Given the description of an element on the screen output the (x, y) to click on. 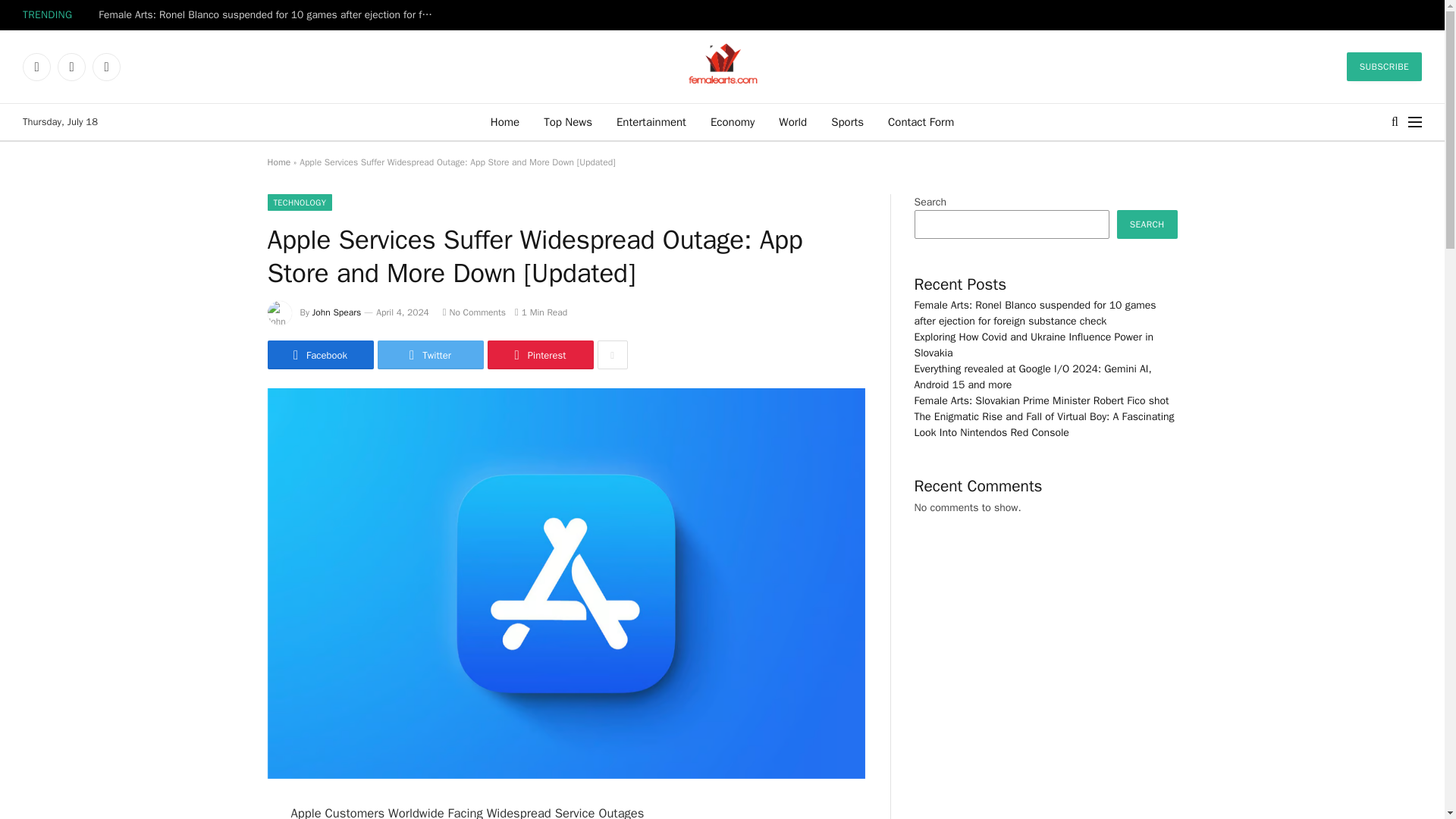
Sports (847, 122)
Entertainment (651, 122)
Contact Form (921, 122)
Economy (732, 122)
Home (505, 122)
Posts by John Spears (337, 312)
John Spears (337, 312)
Show More Social Sharing (611, 354)
Share on Facebook (319, 354)
No Comments (473, 312)
SUBSCRIBE (1384, 66)
Share on Pinterest (539, 354)
Home (277, 162)
Top News (567, 122)
